Given the description of an element on the screen output the (x, y) to click on. 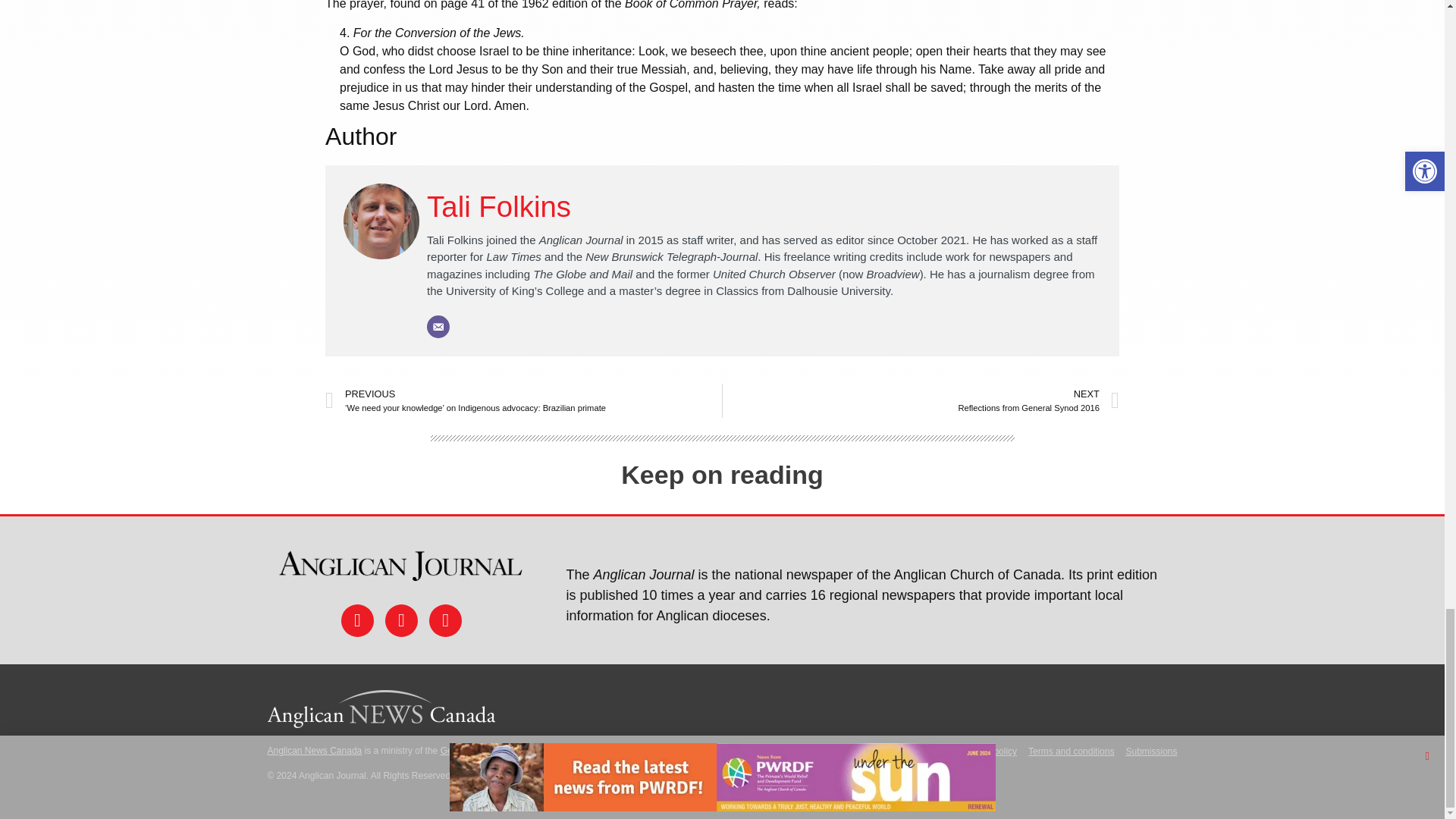
Tali Folkins (498, 206)
